Given the description of an element on the screen output the (x, y) to click on. 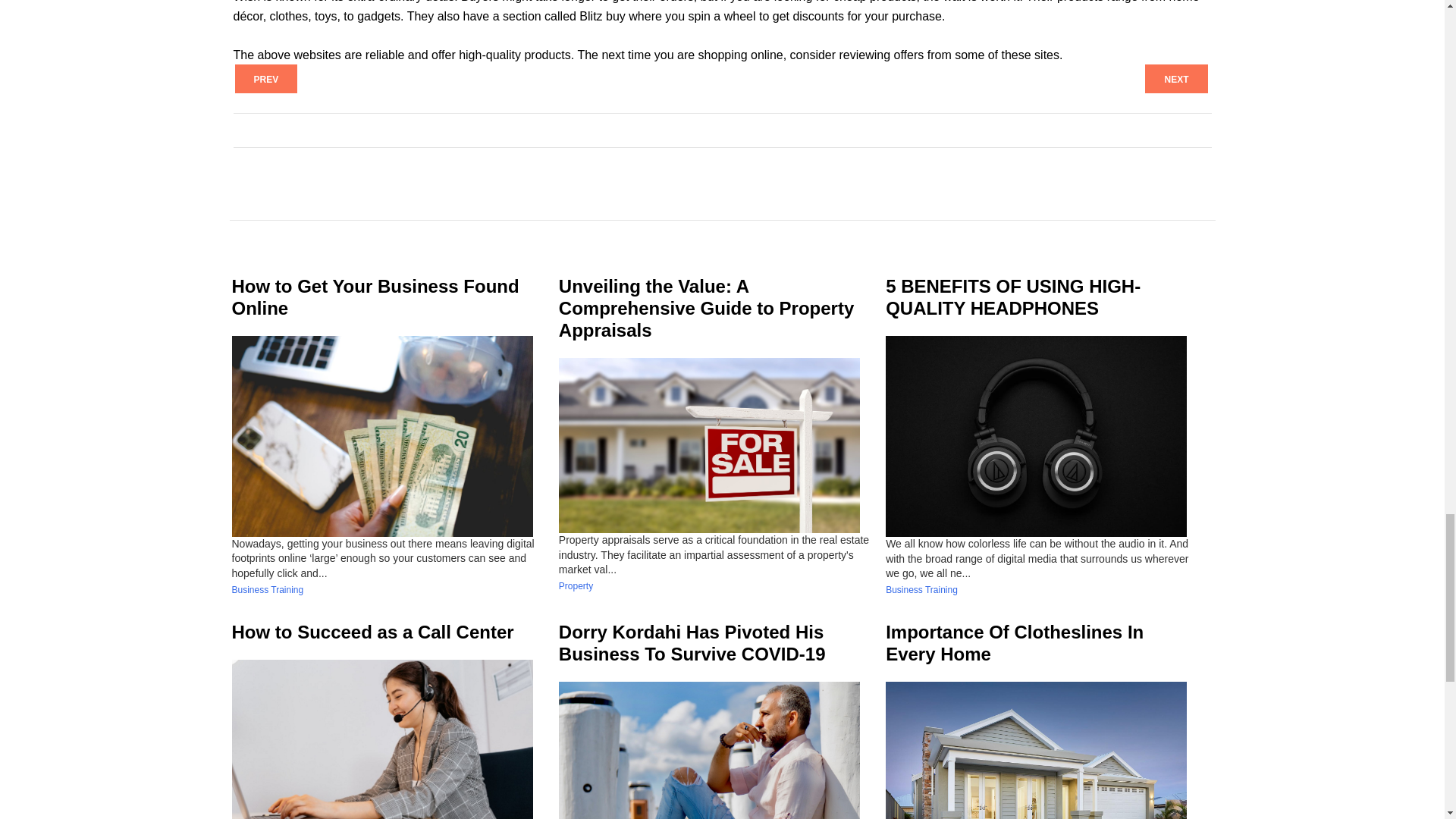
Business Training (267, 589)
NEXT (1175, 78)
How to Succeed as a Call Center (372, 631)
Property (575, 585)
Business Training (921, 589)
5 BENEFITS OF USING HIGH-QUALITY HEADPHONES (1012, 297)
How to Succeed as a Call Center (372, 631)
Dorry Kordahi Has Pivoted His Business To Survive COVID-19 (692, 642)
